Given the description of an element on the screen output the (x, y) to click on. 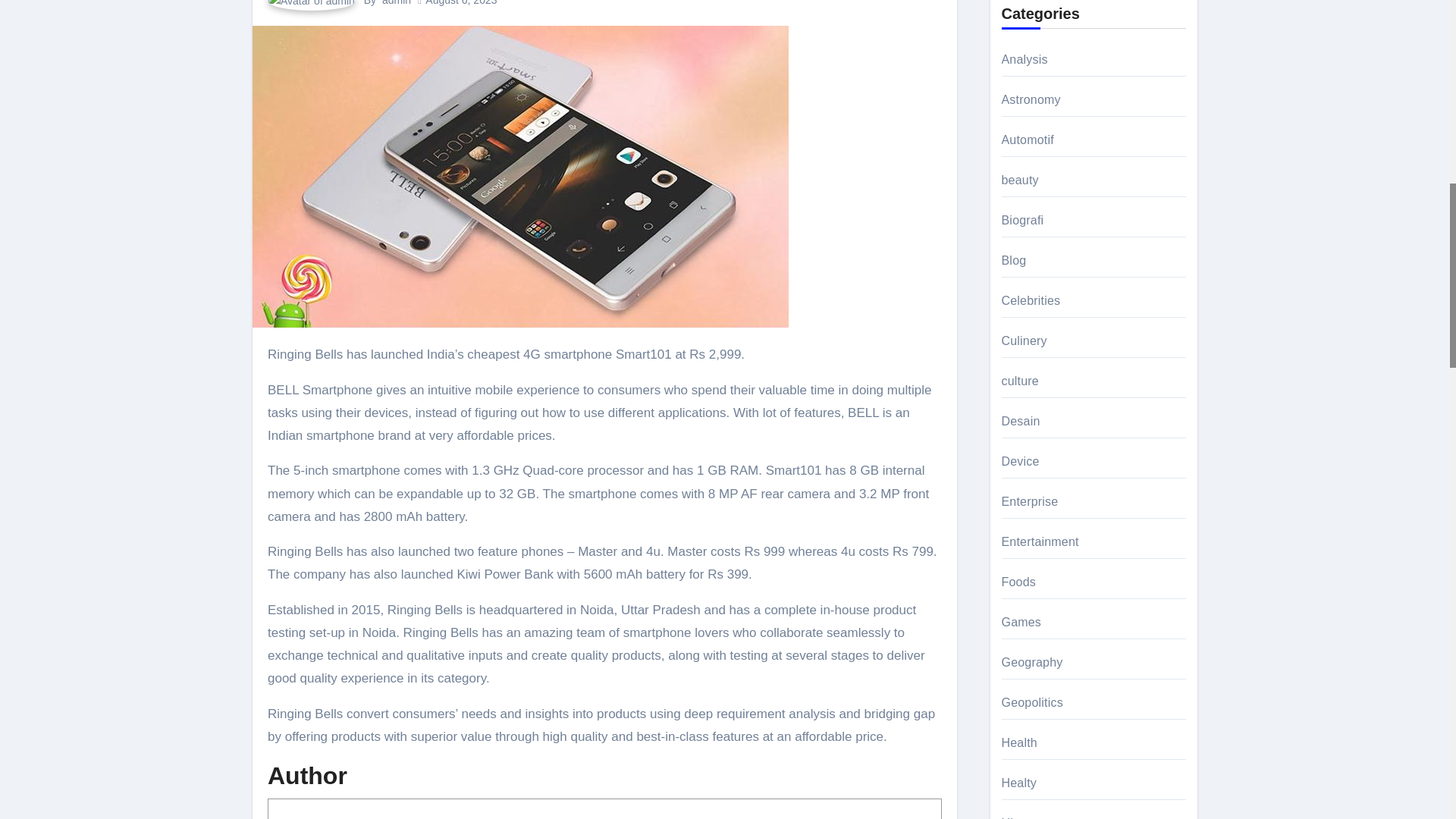
admin (395, 2)
Analysis (1023, 59)
August 6, 2023 (460, 2)
